Given the description of an element on the screen output the (x, y) to click on. 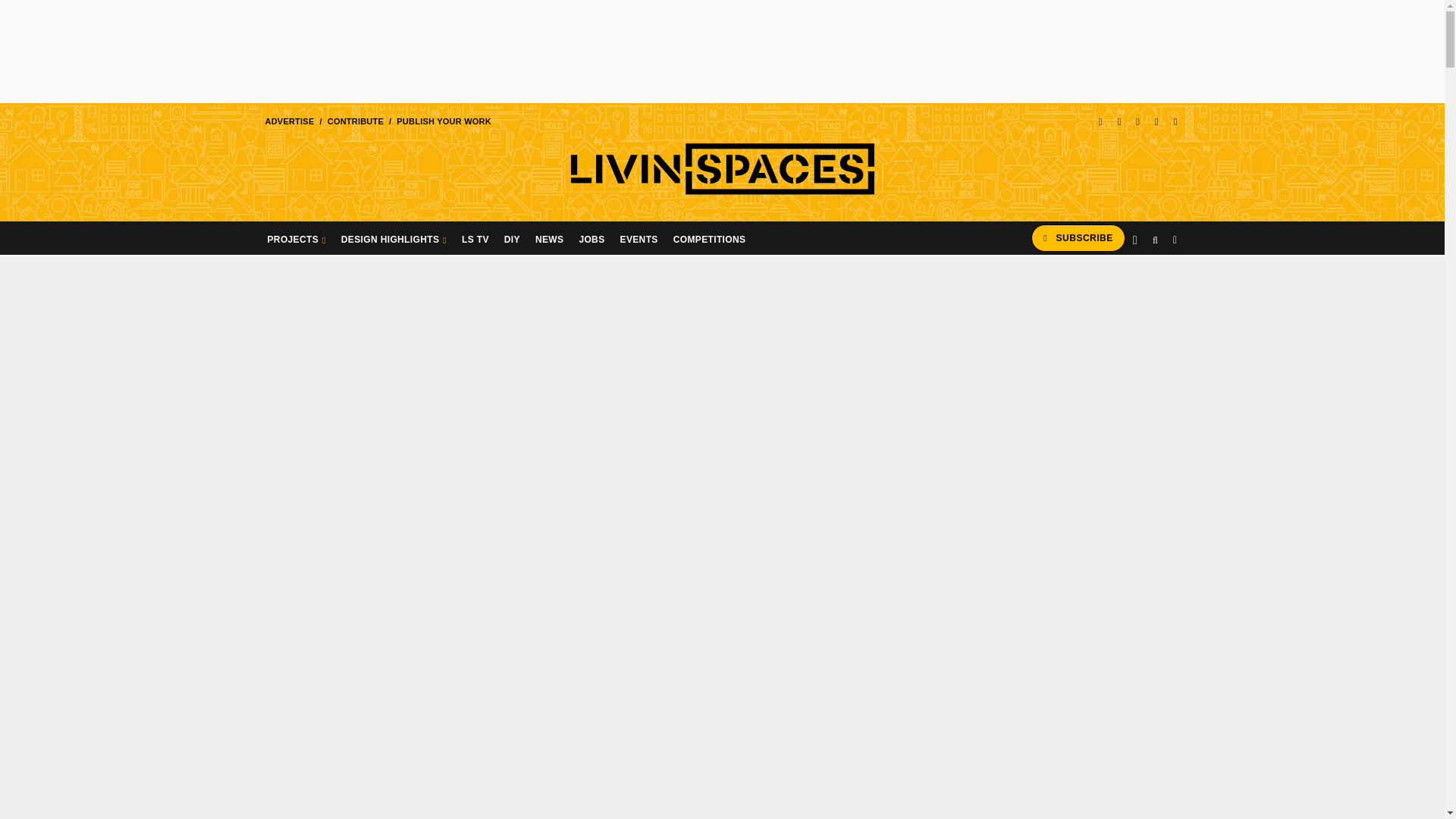
LS TV (475, 237)
DESIGN HIGHLIGHTS (393, 237)
CONTRIBUTE (354, 120)
PROJECTS (296, 237)
ADVERTISE (288, 120)
PUBLISH YOUR WORK (443, 120)
